Given the description of an element on the screen output the (x, y) to click on. 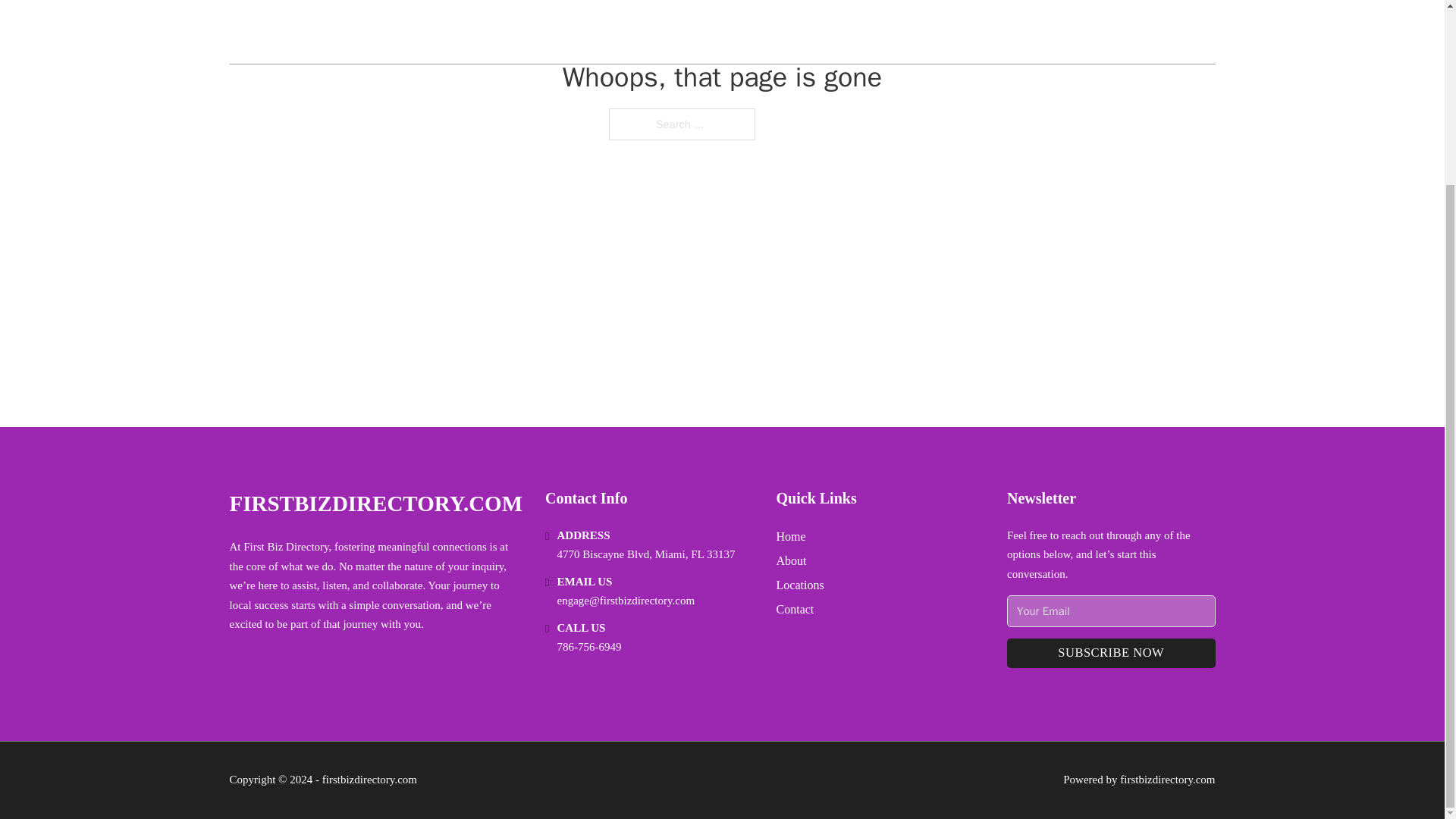
Locations (800, 584)
SUBSCRIBE NOW (1110, 653)
About (791, 560)
Home (791, 536)
FIRSTBIZDIRECTORY.COM (375, 503)
786-756-6949 (589, 646)
Contact (794, 608)
